Given the description of an element on the screen output the (x, y) to click on. 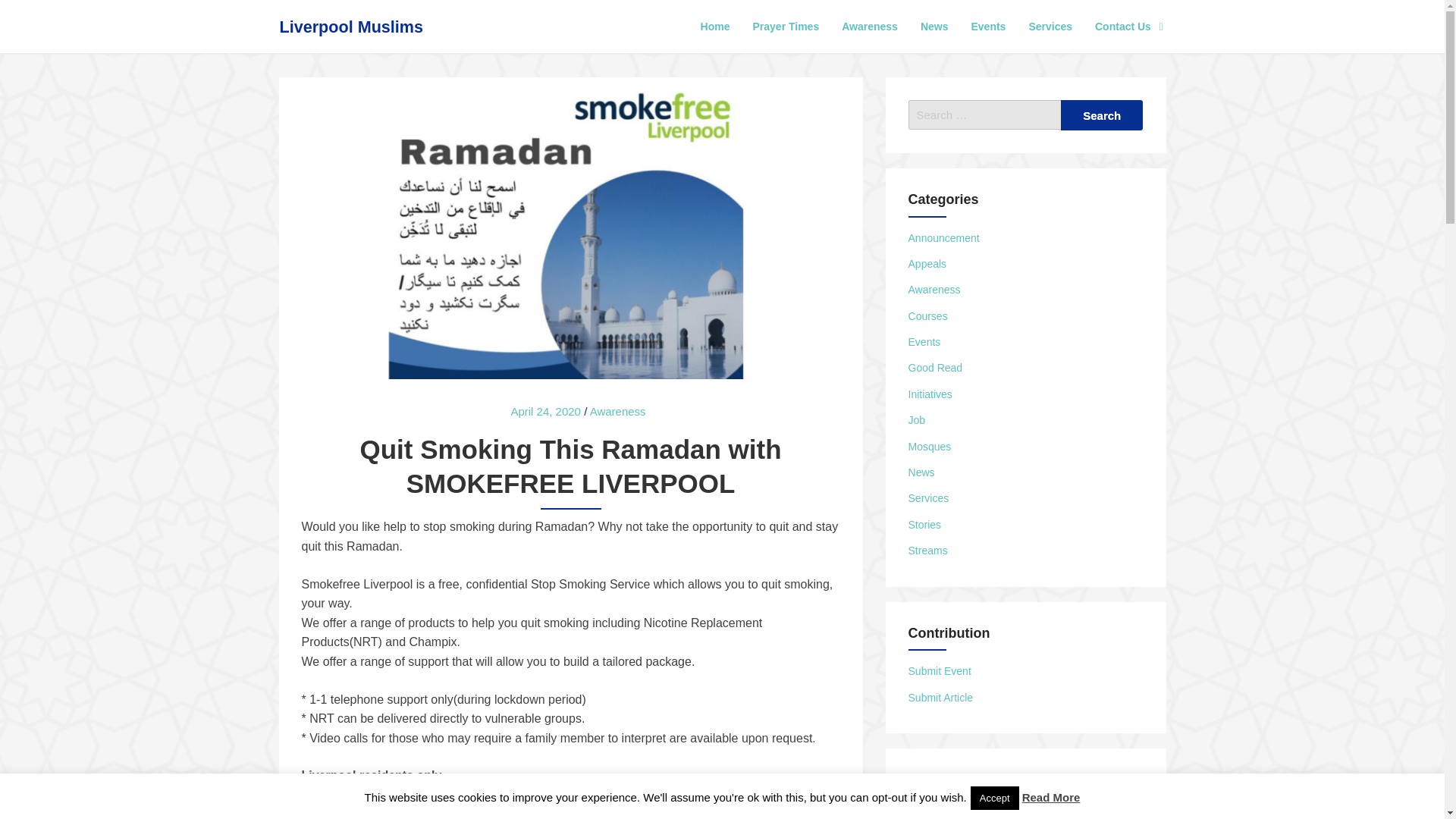
News (933, 26)
Submit Article (941, 697)
Events (924, 341)
Submit Event (939, 671)
Awareness (934, 289)
Awareness (868, 26)
Home (714, 26)
Appeals (927, 263)
Search (1101, 114)
Services (928, 498)
